Given the description of an element on the screen output the (x, y) to click on. 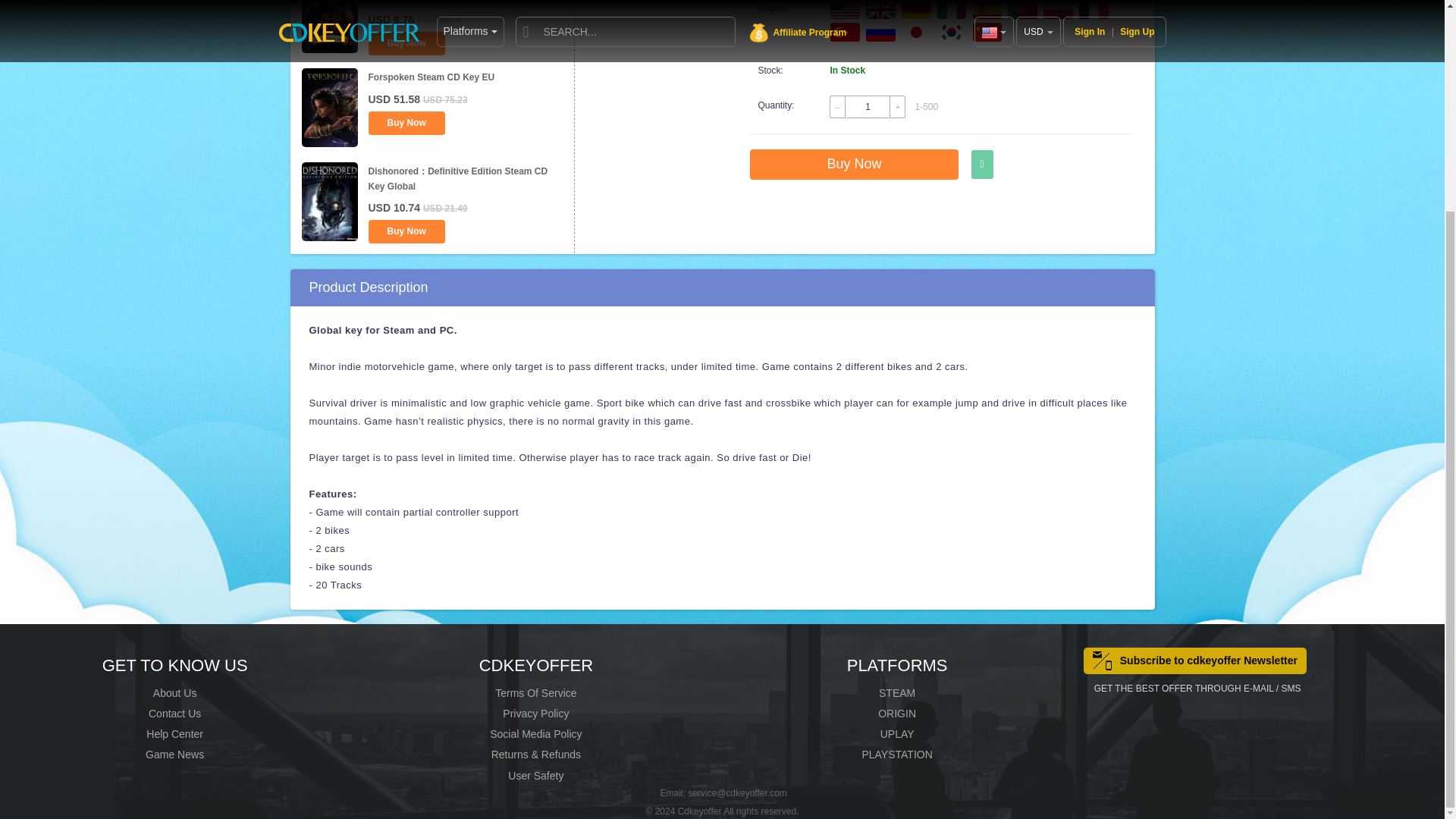
Privacy Policy (535, 713)
Help Center (175, 734)
Social Media Policy (534, 734)
Contact Us (174, 713)
Terms Of Service (535, 693)
About Us (174, 693)
Age of Empires II: Definitive Edition Dynasties of India... (445, 1)
Forspoken Steam CD Key EU (431, 77)
UPLAY (897, 734)
PLAYSTATION (896, 754)
